Given the description of an element on the screen output the (x, y) to click on. 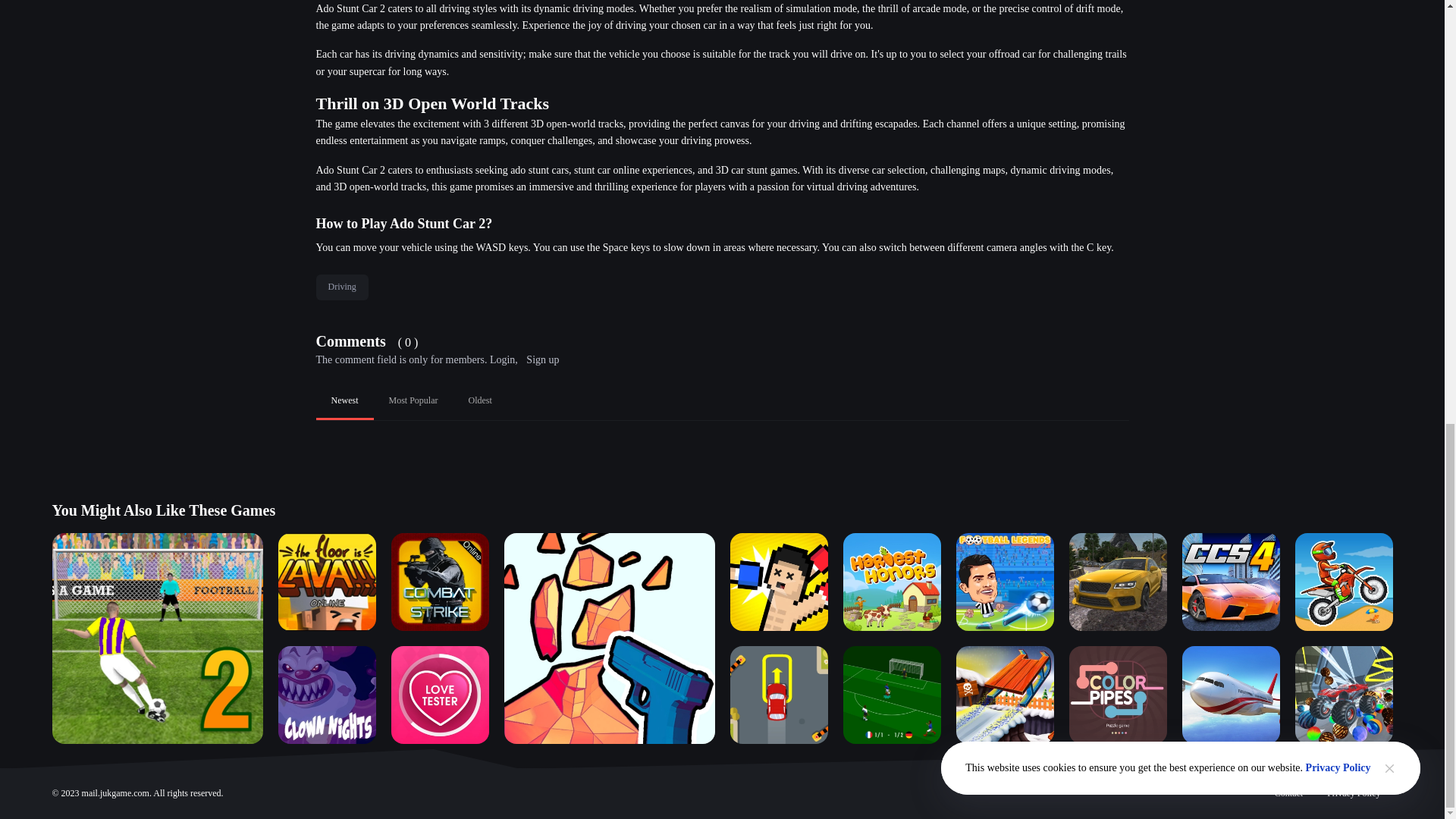
Login (502, 359)
Driving (341, 287)
